Given the description of an element on the screen output the (x, y) to click on. 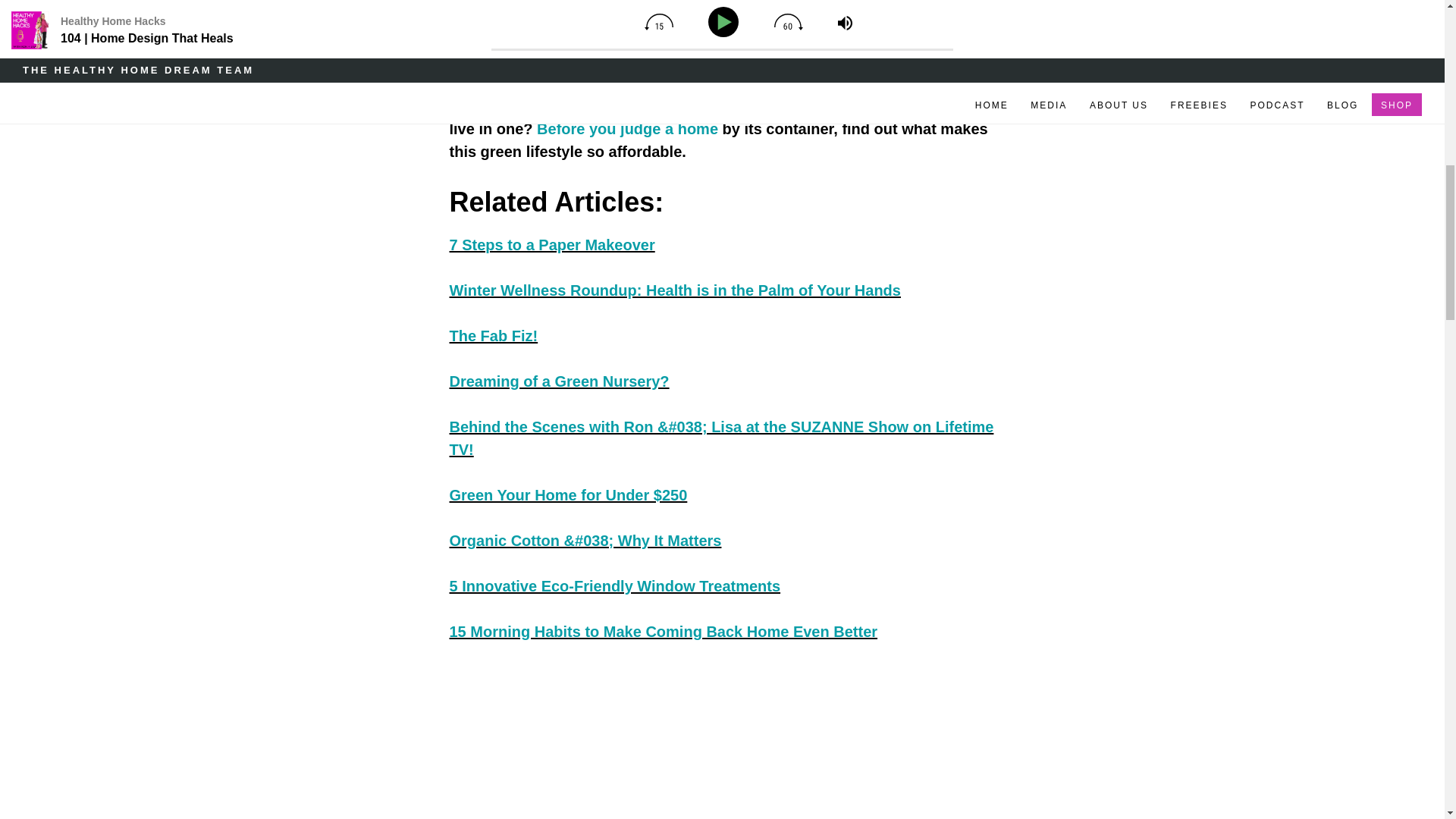
6 Ways to Prepare Your Home Before the Cold Weather Arrives (627, 128)
Would You Live In A Shipping Container? 1 (653, 742)
